Given the description of an element on the screen output the (x, y) to click on. 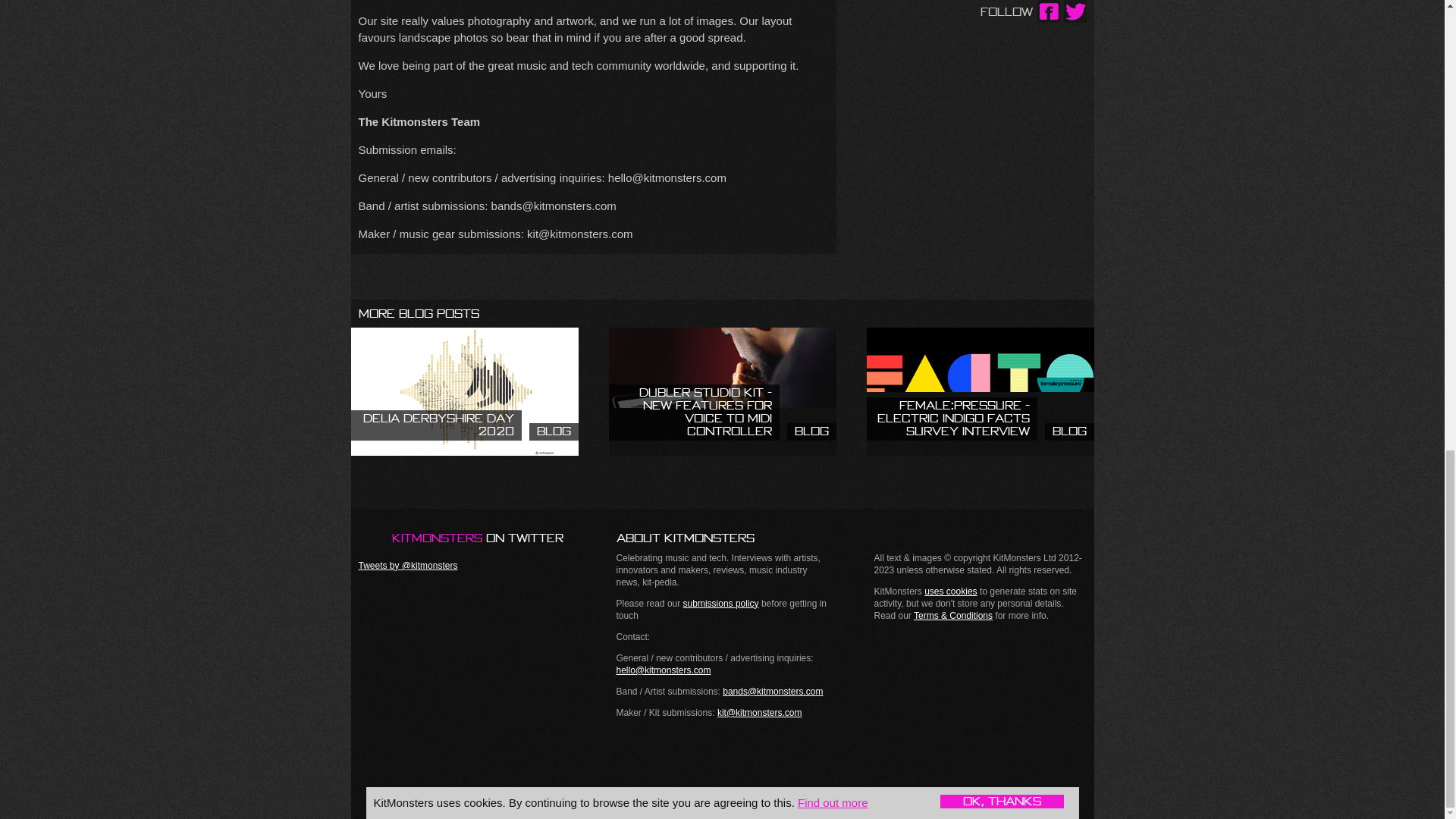
KitMonsters on Twitter (464, 391)
uses cookies (460, 537)
submissions policy (950, 591)
